Given the description of an element on the screen output the (x, y) to click on. 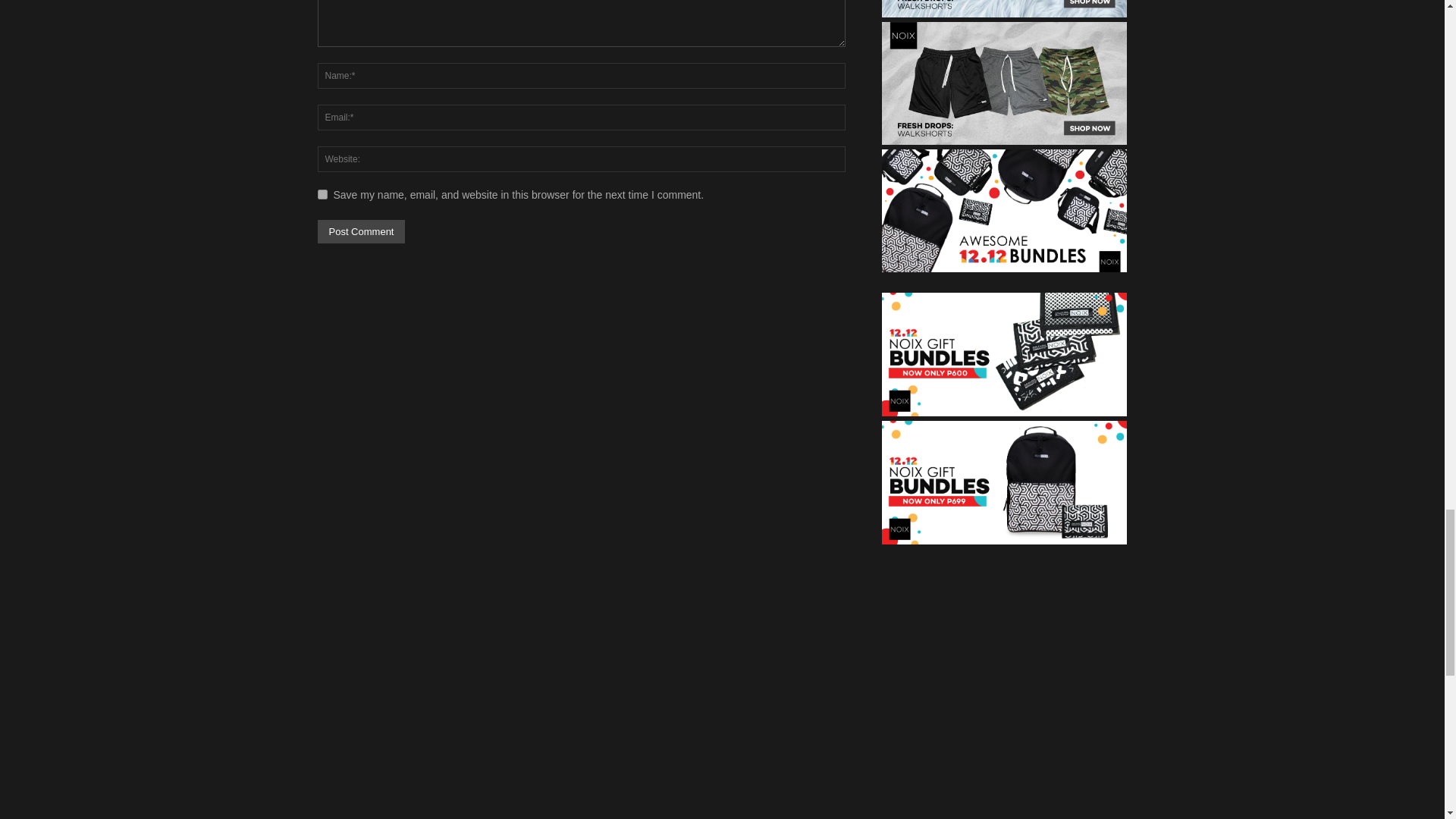
yes (321, 194)
Post Comment (360, 231)
